Given the description of an element on the screen output the (x, y) to click on. 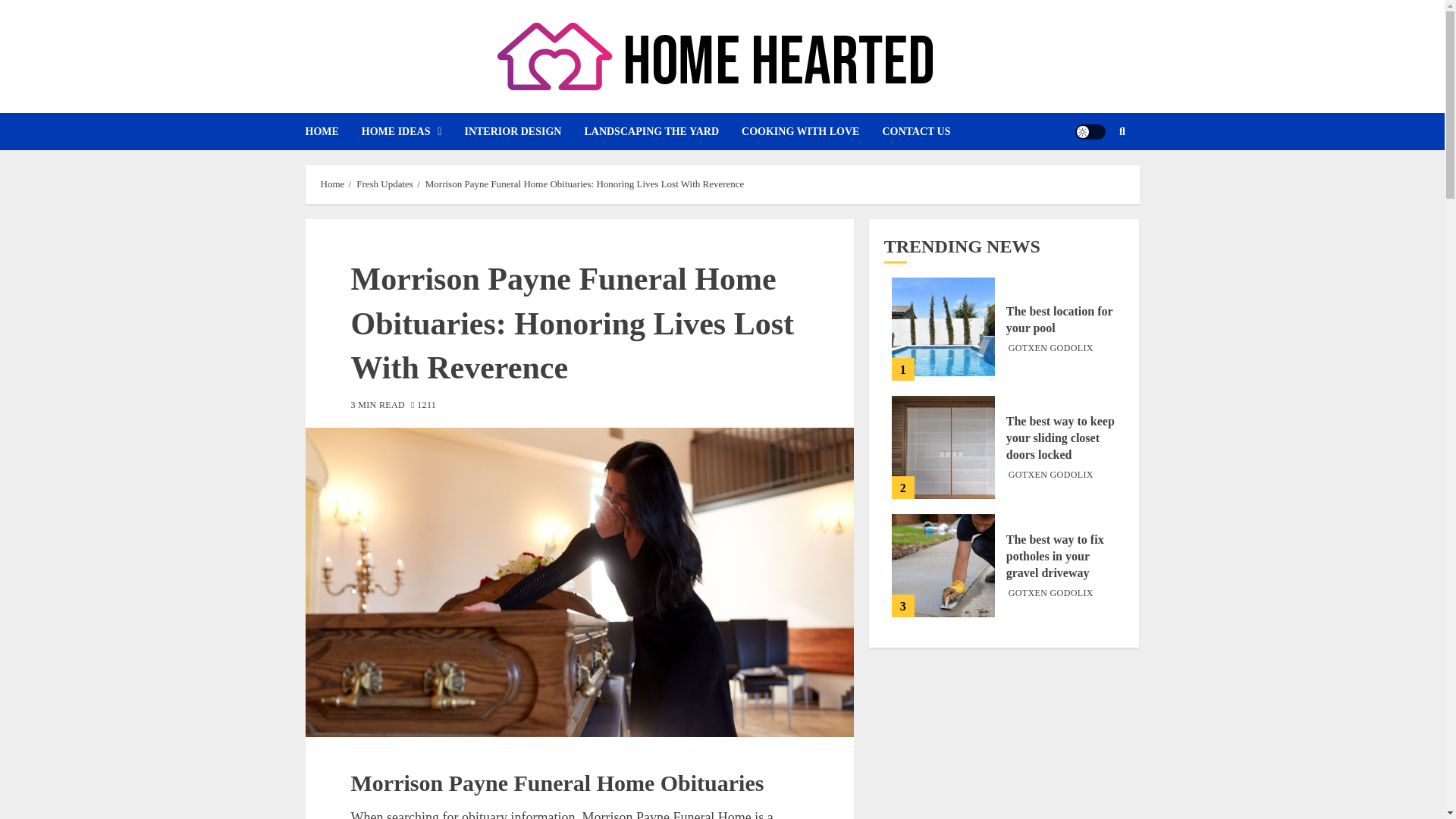
INTERIOR DESIGN (523, 131)
Search (1092, 176)
COOKING WITH LOVE (811, 131)
HOME (332, 131)
CONTACT US (927, 131)
HOME IDEAS (412, 131)
Home (331, 184)
1211 (422, 405)
LANDSCAPING THE YARD (662, 131)
The best location for your pool (942, 328)
Fresh Updates (384, 184)
